Given the description of an element on the screen output the (x, y) to click on. 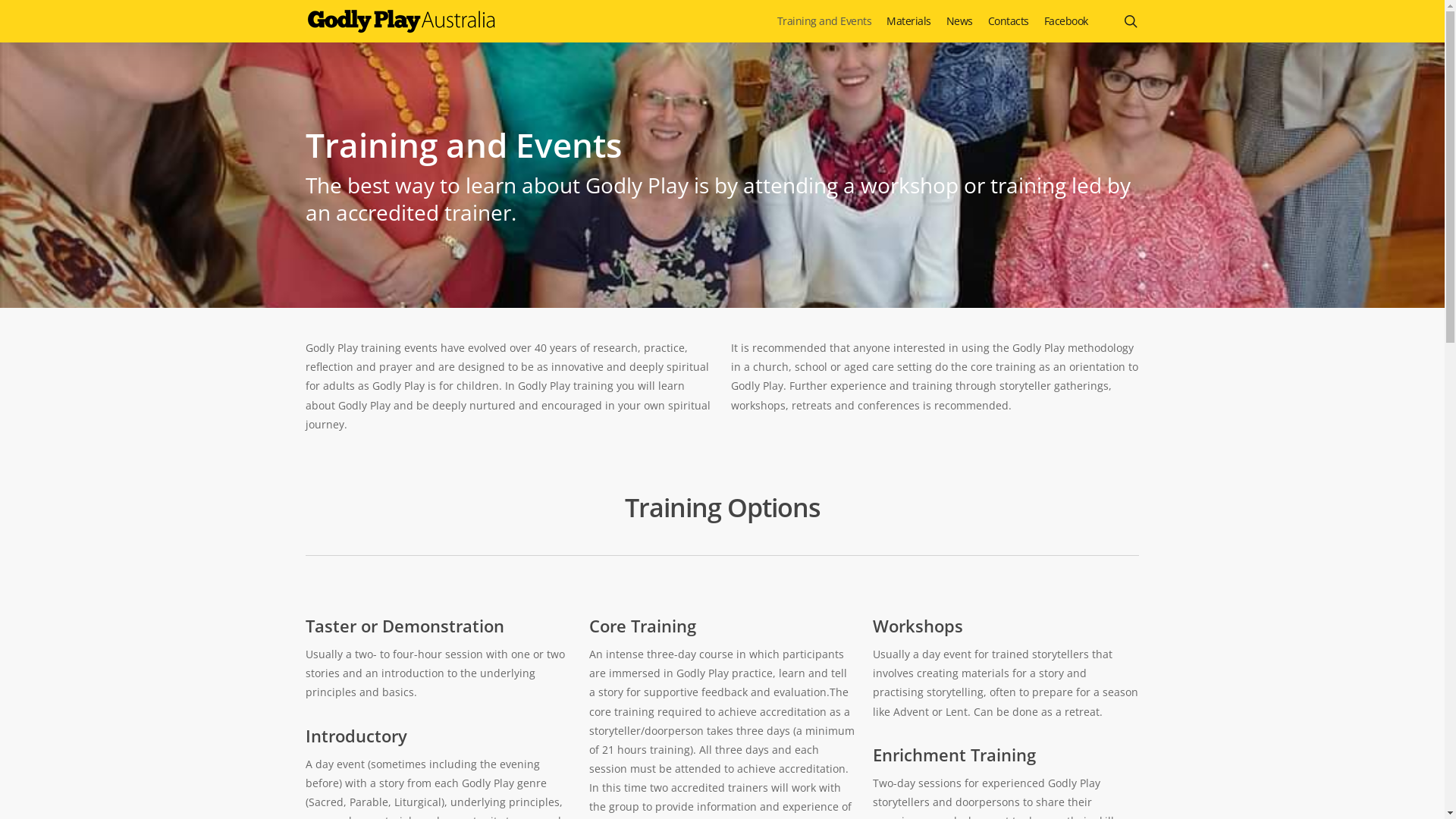
search Element type: text (1129, 20)
Training and Events Element type: text (823, 20)
News Element type: text (959, 20)
Materials Element type: text (908, 20)
Facebook Element type: text (1065, 20)
Contacts Element type: text (1007, 20)
